Given the description of an element on the screen output the (x, y) to click on. 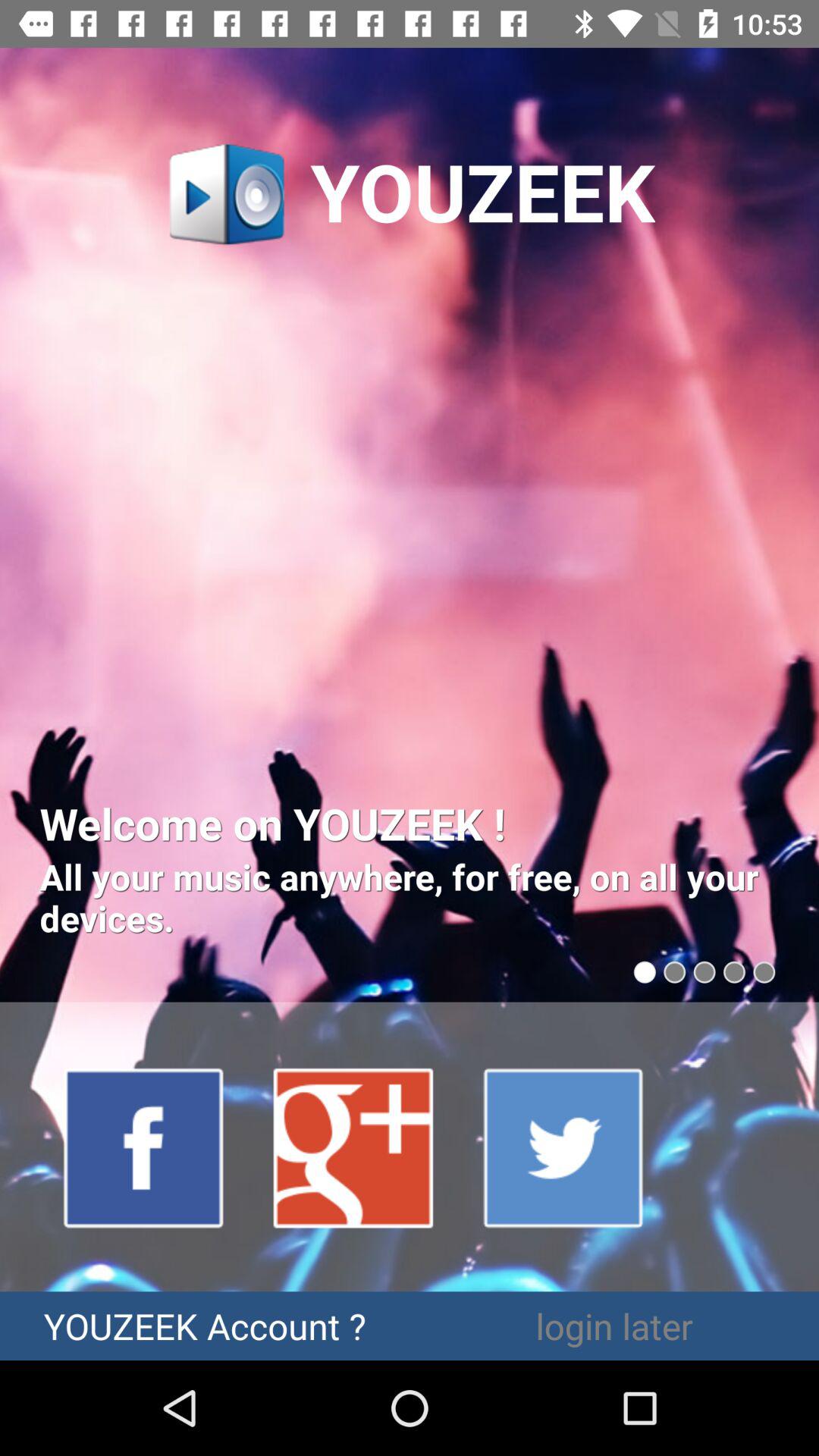
turn off item next to the login later icon (204, 1325)
